Given the description of an element on the screen output the (x, y) to click on. 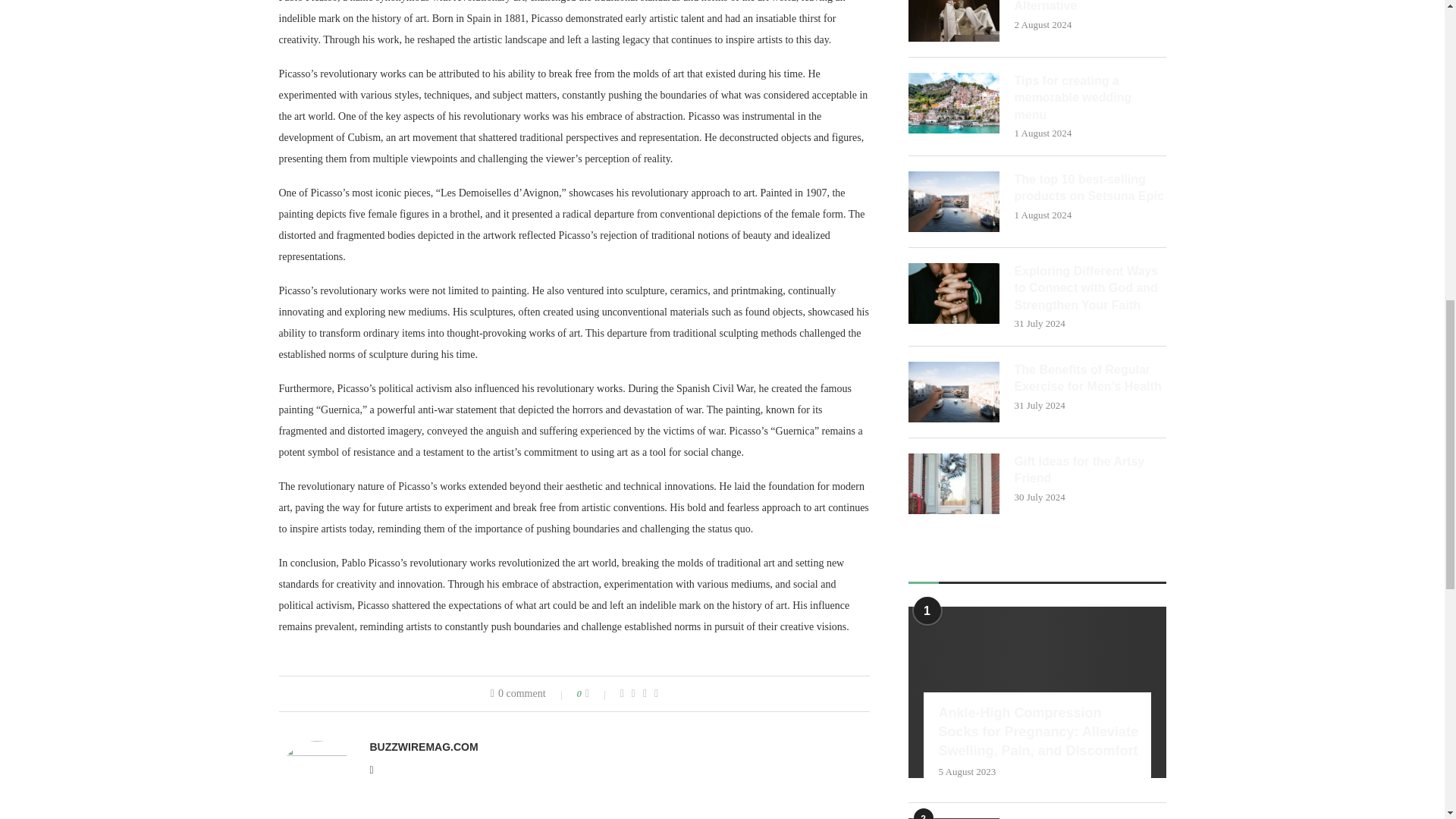
Like (597, 693)
Author buzzwiremag.com (424, 746)
